Given the description of an element on the screen output the (x, y) to click on. 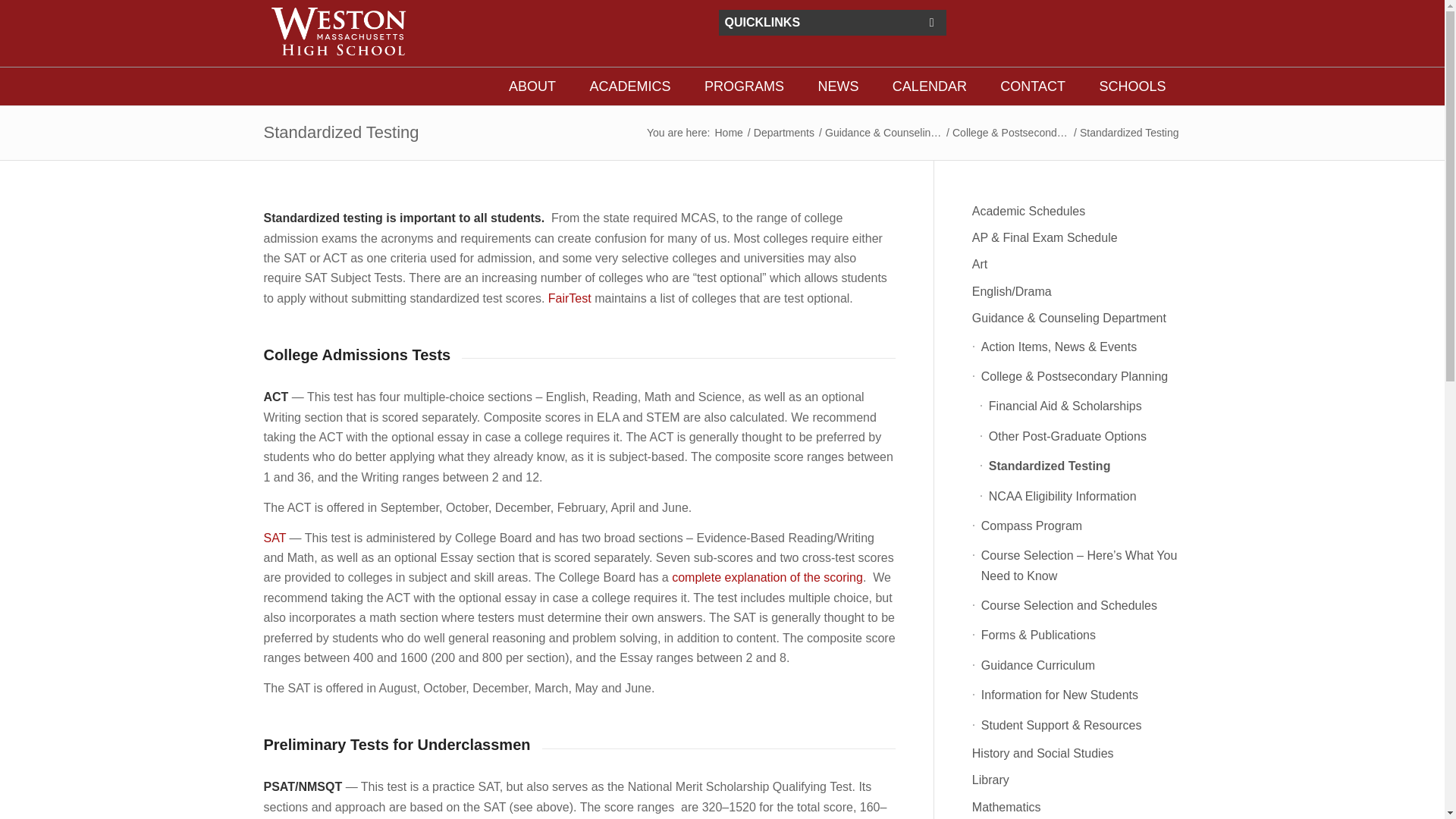
ACADEMICS (629, 86)
ABOUT (531, 86)
